Given the description of an element on the screen output the (x, y) to click on. 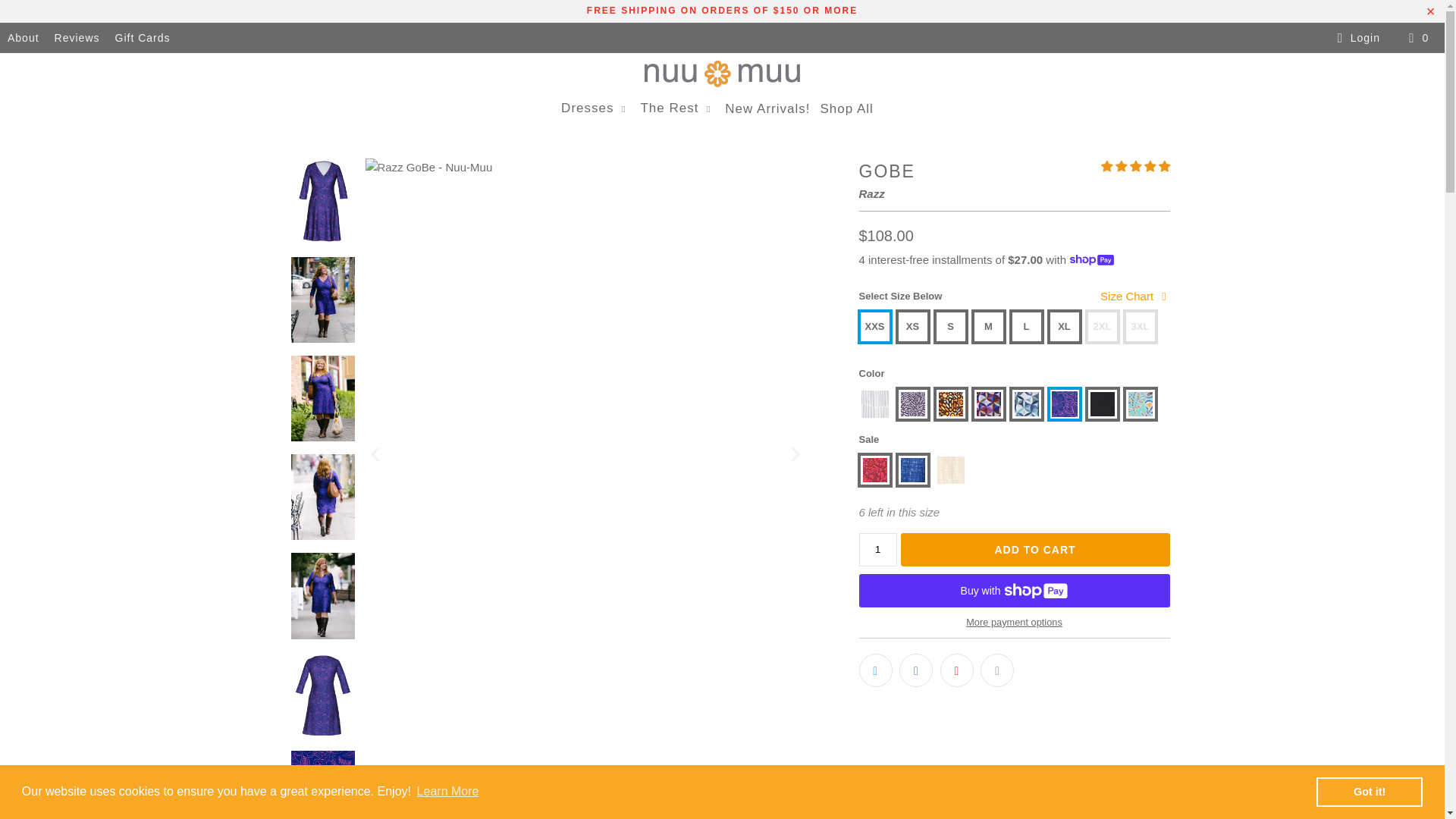
Share this on Pinterest (957, 670)
My Account  (1356, 37)
Got it! (1369, 791)
Nuu-Muu (722, 75)
Learn More (446, 791)
Share this on Twitter (875, 670)
Share this on Facebook (916, 670)
Email this to a friend (996, 670)
1 (877, 548)
